Given the description of an element on the screen output the (x, y) to click on. 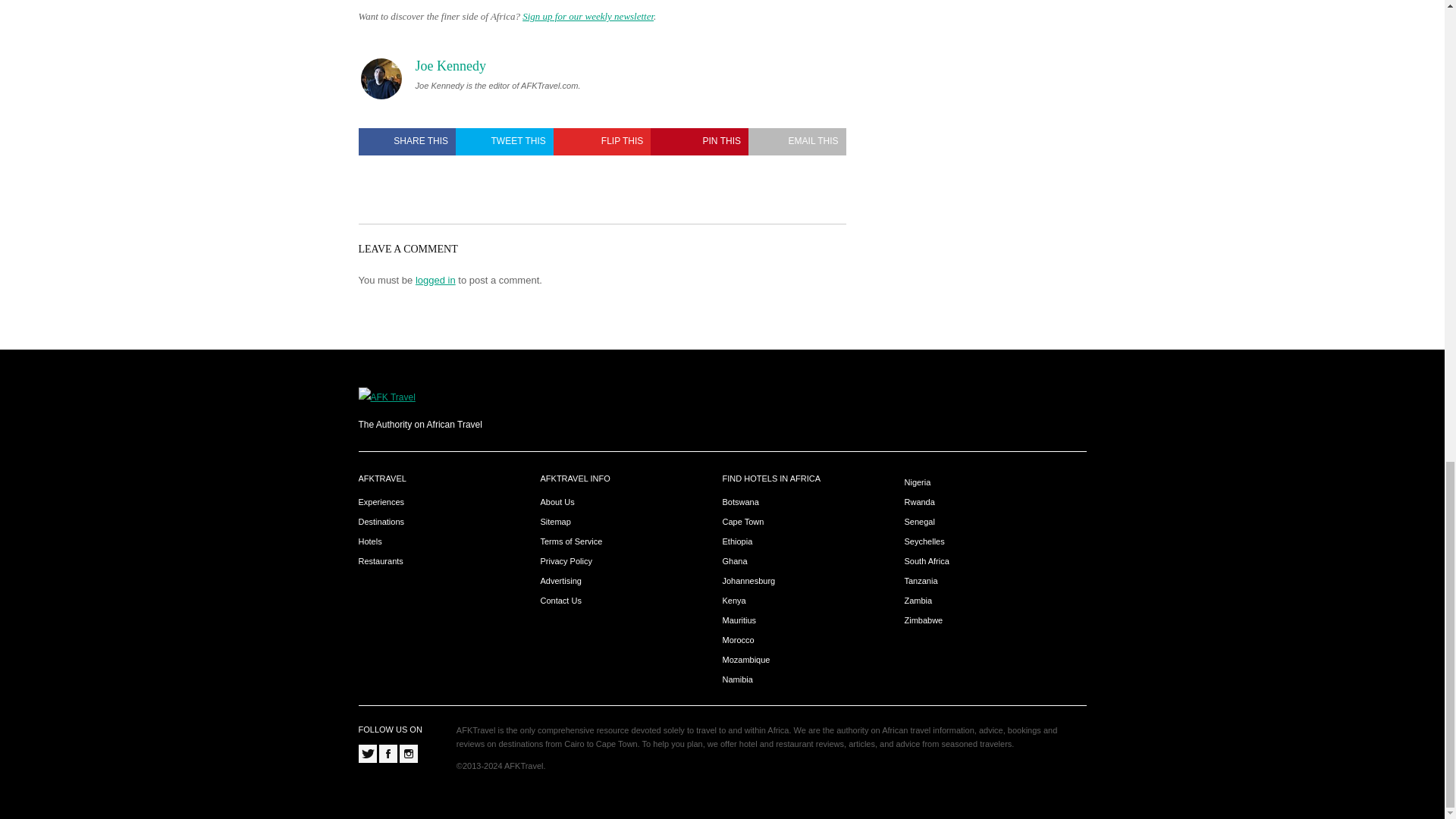
Sign up for our weekly newsletter (587, 16)
logged in (434, 279)
Joe Kennedy (450, 66)
